Given the description of an element on the screen output the (x, y) to click on. 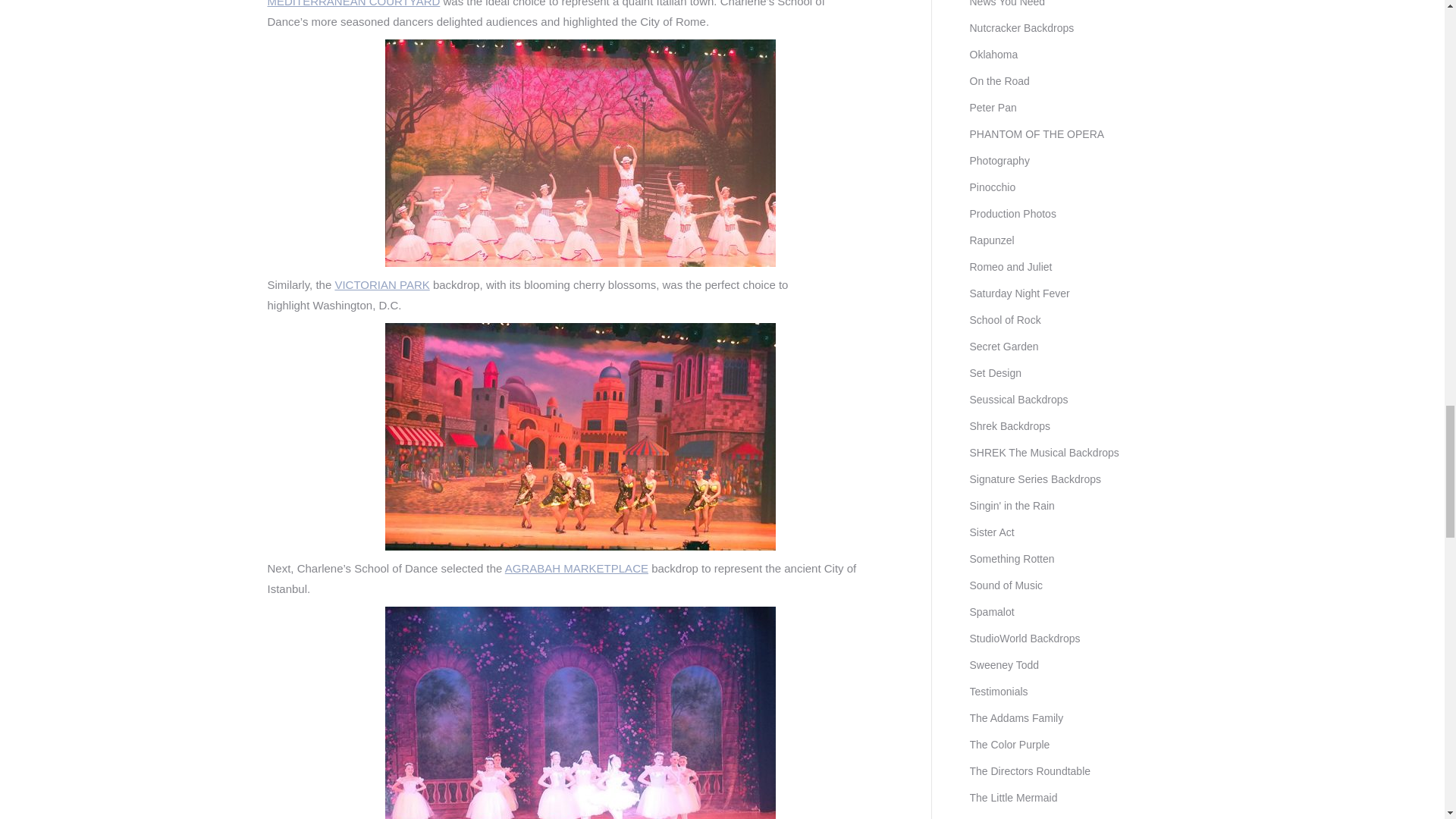
Victorian Park Backdrop Charlene's School of Dance (580, 152)
VICTORIAN PARK (381, 284)
Agrabah Marketplace Backdrop Charlene's School of Dance (580, 436)
AGRABAH MARKETPLACE (576, 567)
MEDITERRANEAN COURTYARD (352, 3)
Rose Terrace Backdrop Charlene's School of Dance (580, 712)
